Given the description of an element on the screen output the (x, y) to click on. 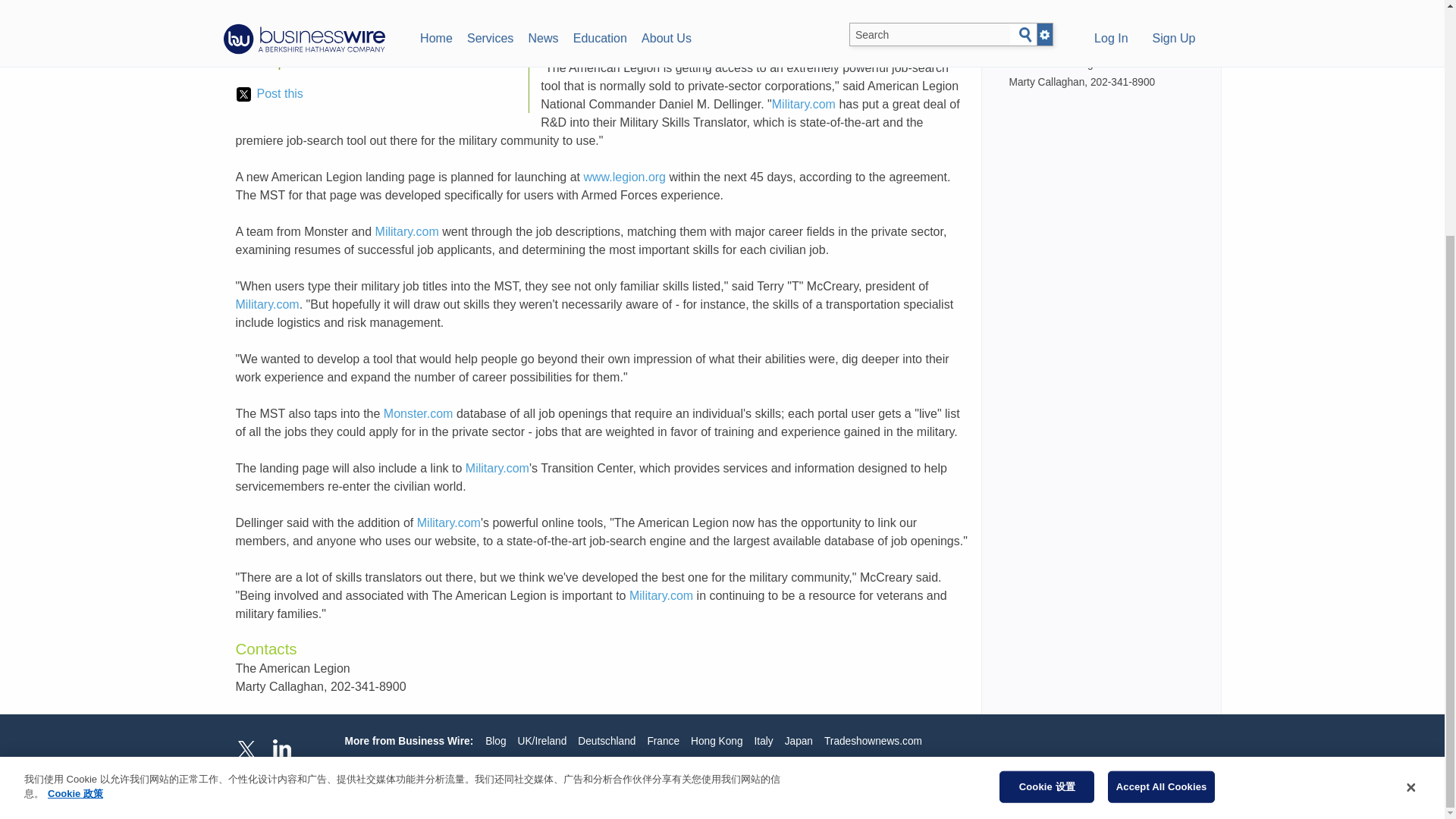
Military.com (497, 468)
Military.com (921, 0)
Military.com (803, 103)
Military.com (660, 594)
Military.com (448, 522)
Military.com (266, 304)
www.legion.org (624, 176)
Post this (269, 93)
Monster.com (575, 31)
Monster.com (418, 413)
